Given the description of an element on the screen output the (x, y) to click on. 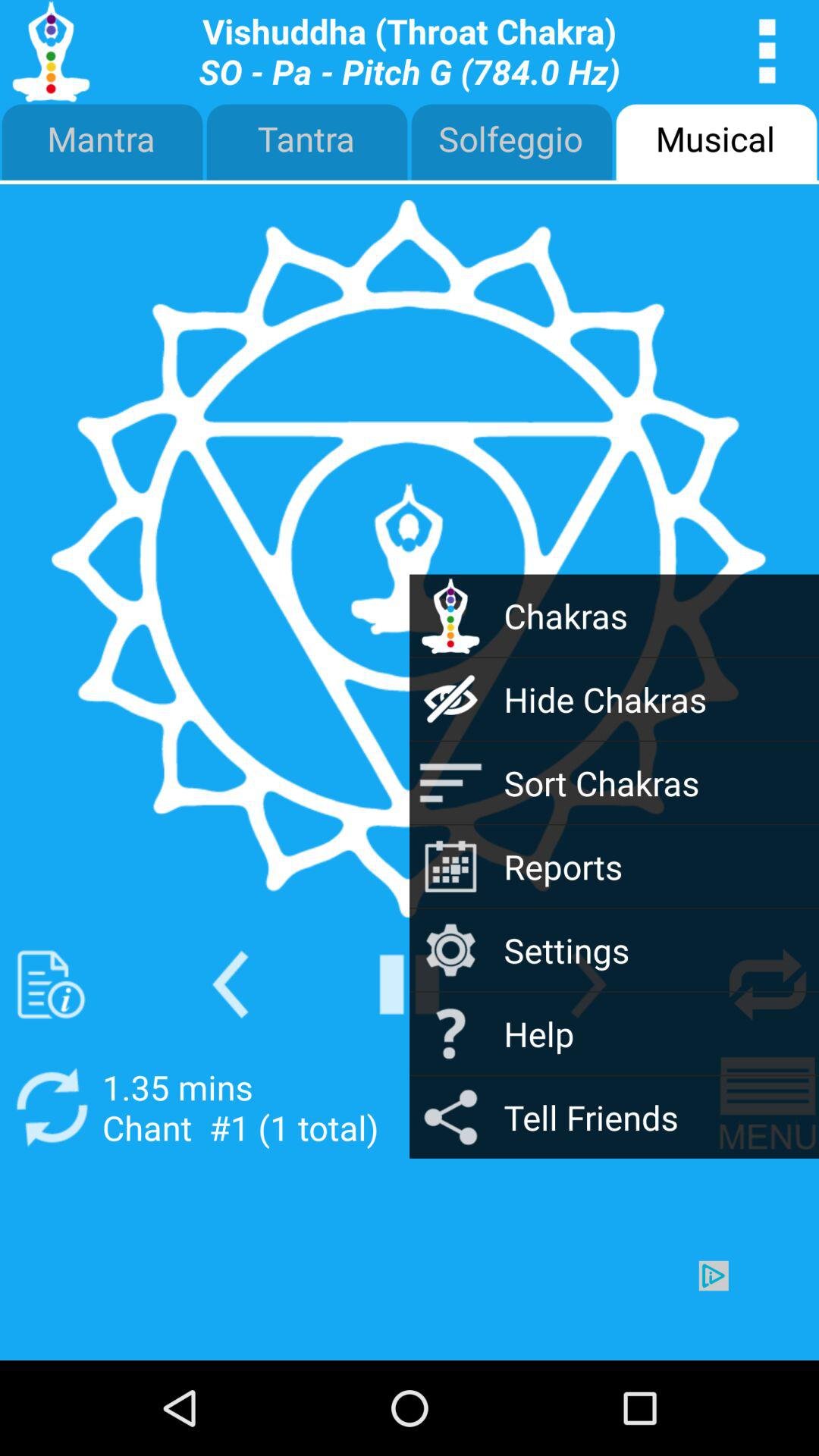
go to setting (767, 984)
